Given the description of an element on the screen output the (x, y) to click on. 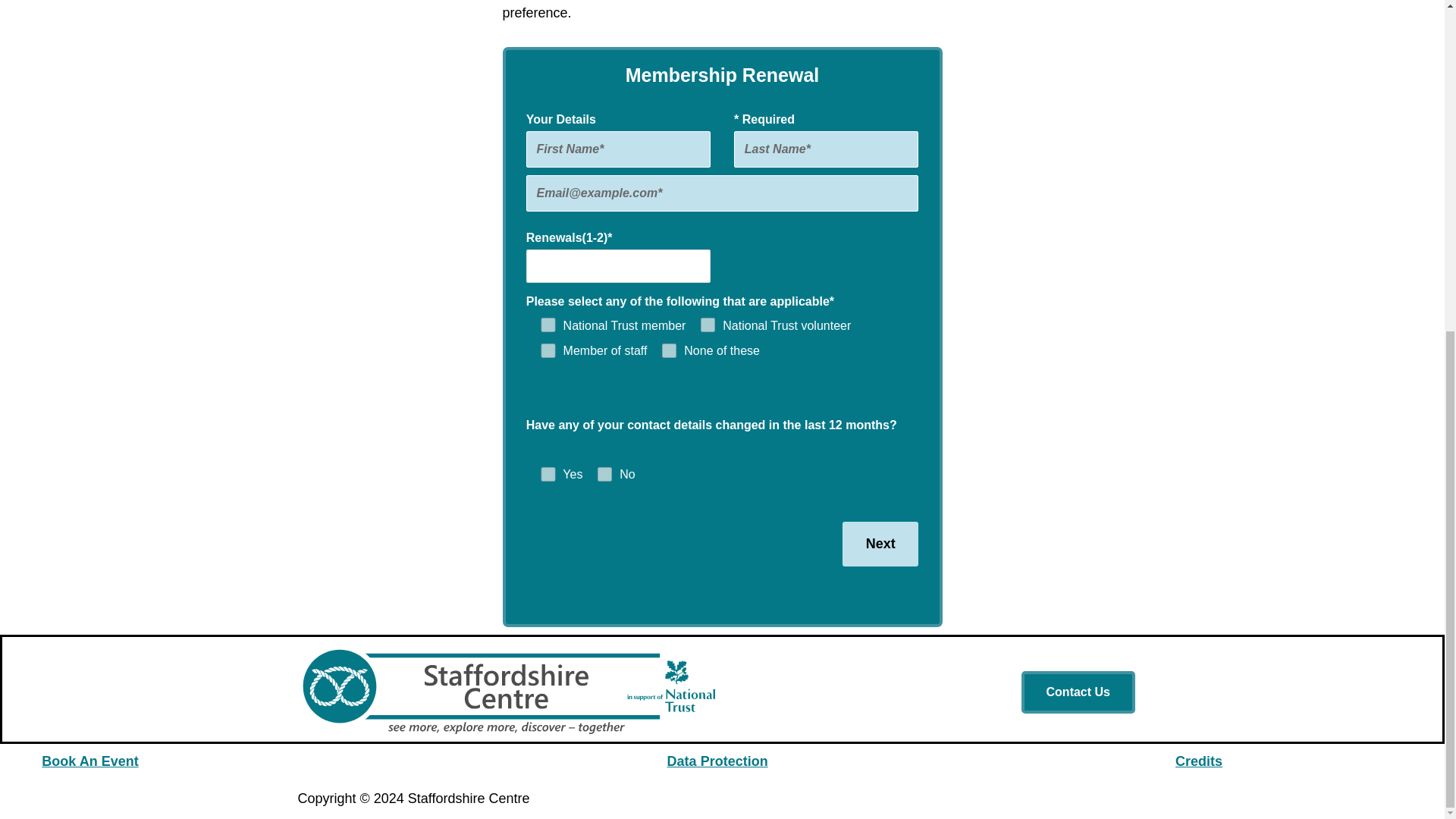
Yes (548, 473)
Contact Us (1078, 691)
Data Protection (716, 761)
Next (880, 543)
No (603, 473)
None of these (669, 350)
Sign Me Up (1173, 462)
Book An Event (90, 761)
Member of staff (548, 350)
National Trust volunteer (707, 324)
National Trust member (548, 324)
Credits (1198, 761)
